Given the description of an element on the screen output the (x, y) to click on. 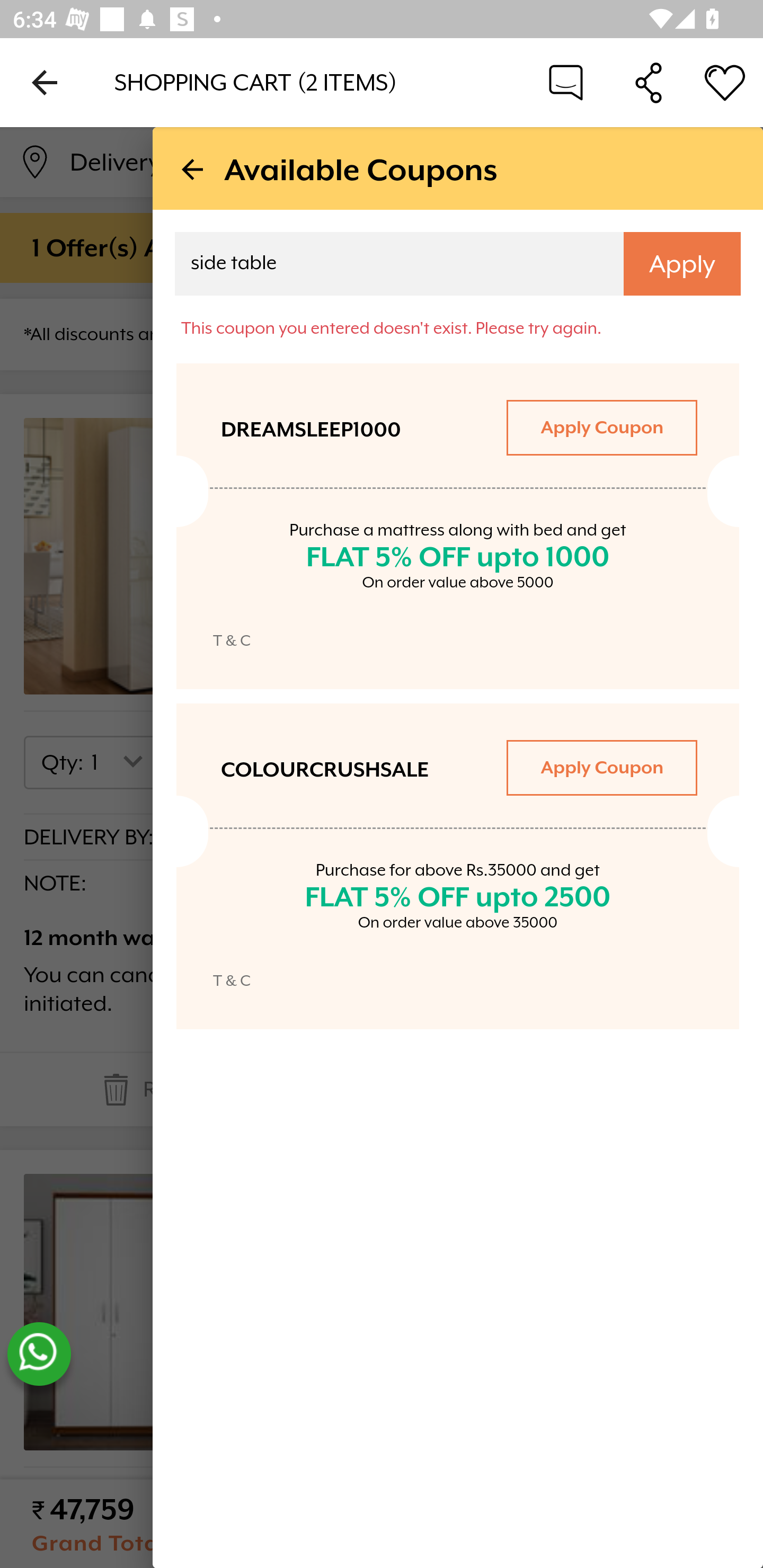
Navigate up (44, 82)
Chat (565, 81)
Share Cart (648, 81)
Wishlist (724, 81)
Apply (681, 264)
side table (386, 266)
Apply Coupon (601, 427)
T & C (231, 640)
Apply Coupon (601, 767)
T & C (231, 979)
whatsapp (38, 1353)
